Given the description of an element on the screen output the (x, y) to click on. 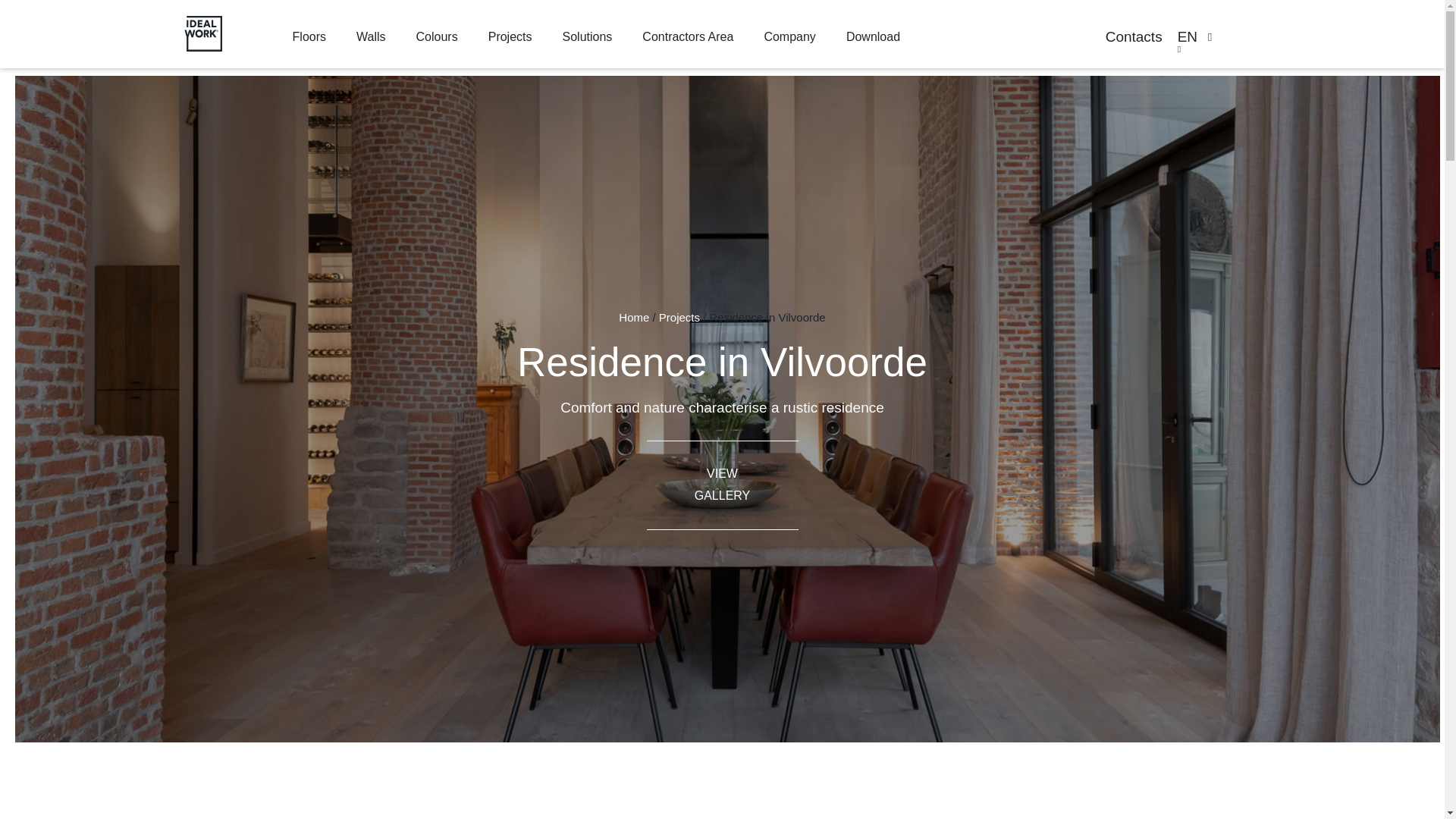
Projects (509, 37)
Solutions (587, 37)
Colours (437, 37)
Walls (370, 37)
Floors (309, 37)
